Given the description of an element on the screen output the (x, y) to click on. 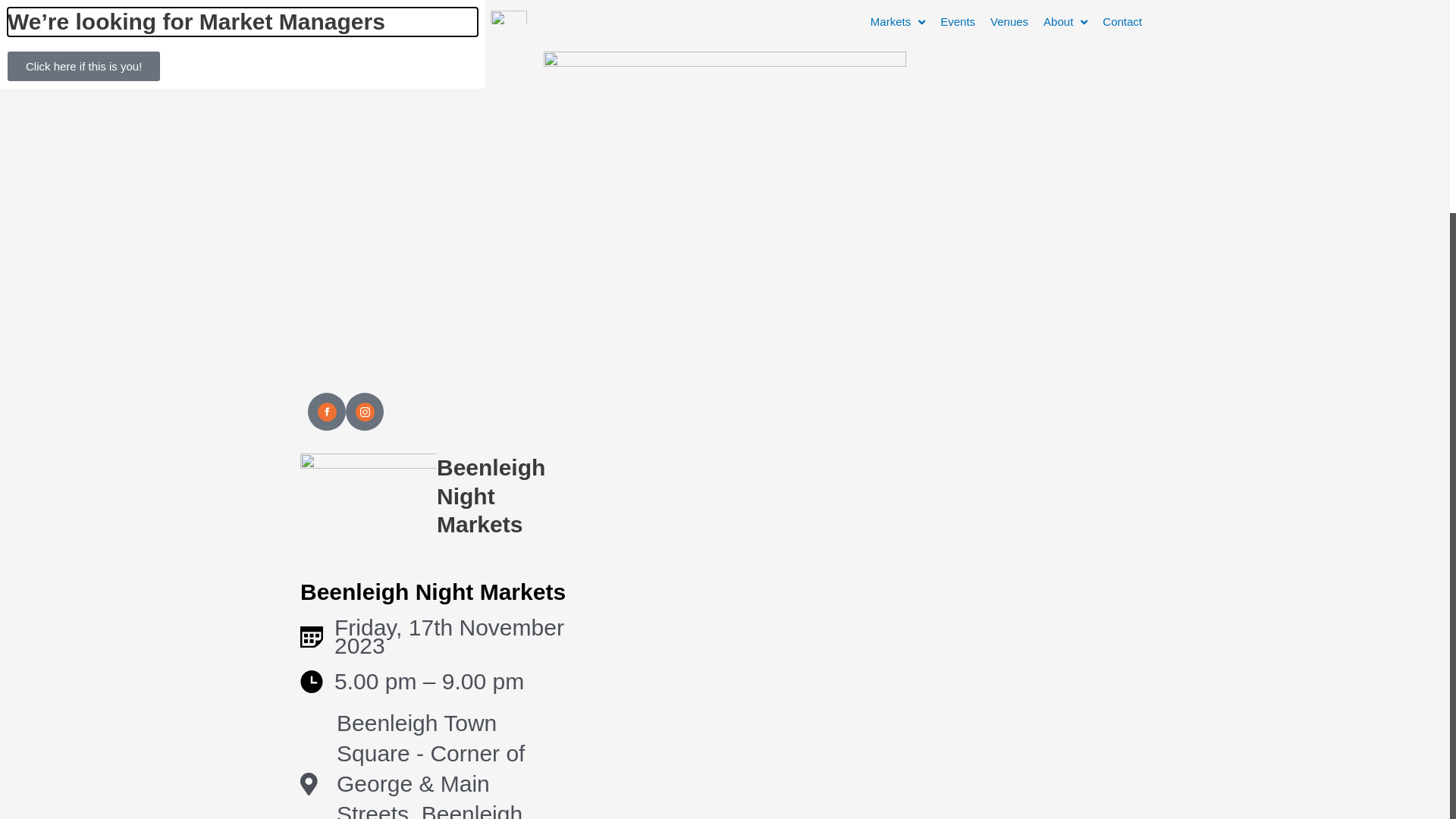
Venues Element type: text (1008, 21)
Contact Element type: text (1122, 21)
Beenleigh Town Square Night Markets Element type: hover (1012, 566)
Events Element type: text (957, 21)
About Element type: text (1065, 21)
Beenleigh Night Markets Element type: text (432, 591)
Markets Element type: text (897, 21)
Click here if this is you! Element type: text (83, 66)
